Given the description of an element on the screen output the (x, y) to click on. 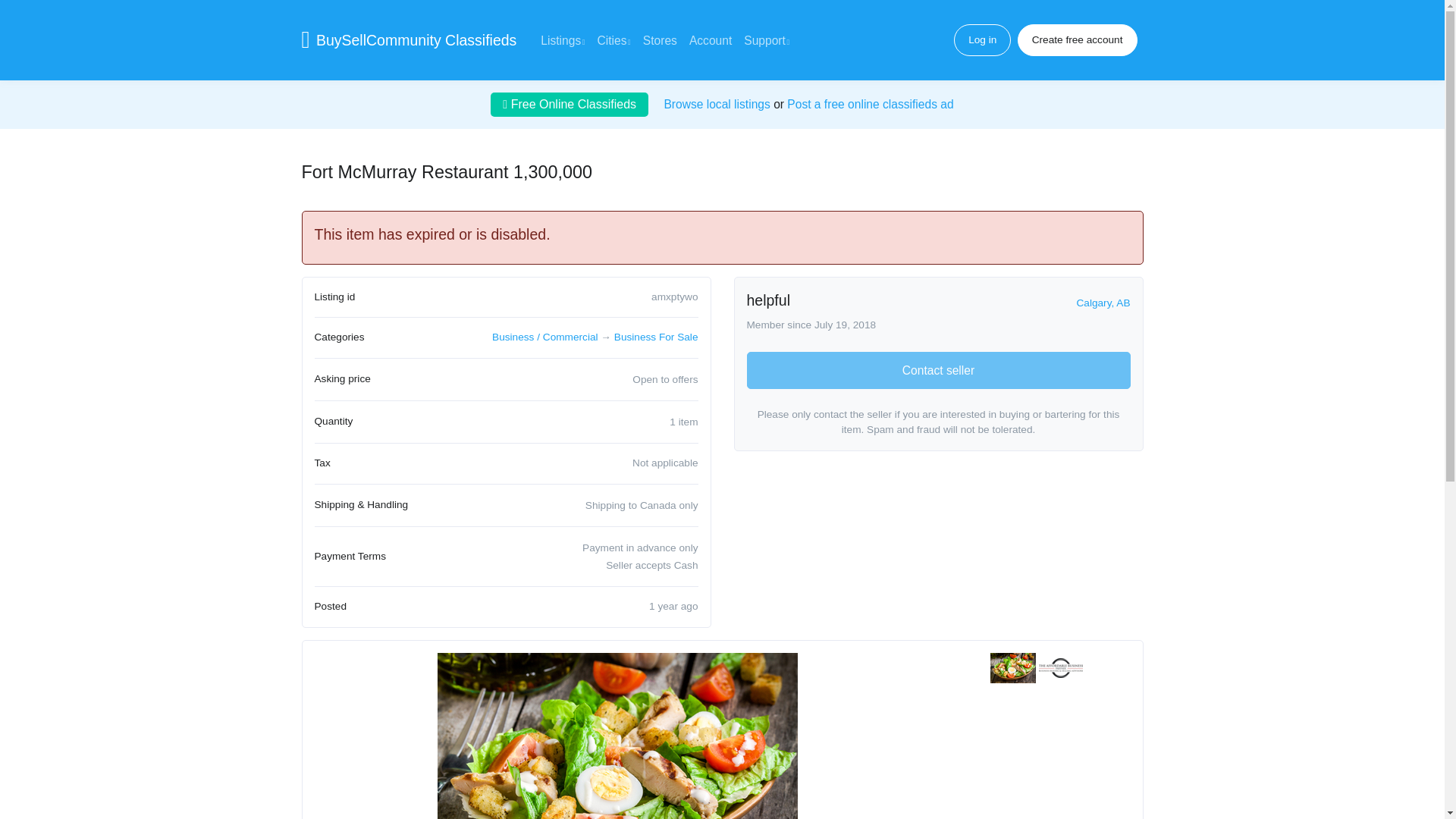
BuySellCommunity Classifieds (415, 40)
Cities (614, 40)
BuySellCommunity Classifieds (415, 40)
Listings (562, 40)
